Given the description of an element on the screen output the (x, y) to click on. 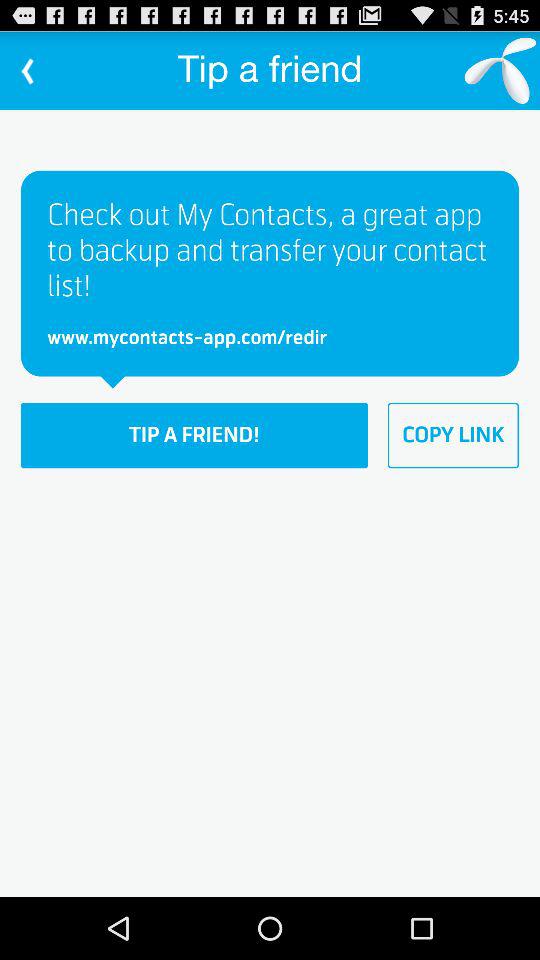
turn off icon on the right (453, 435)
